Given the description of an element on the screen output the (x, y) to click on. 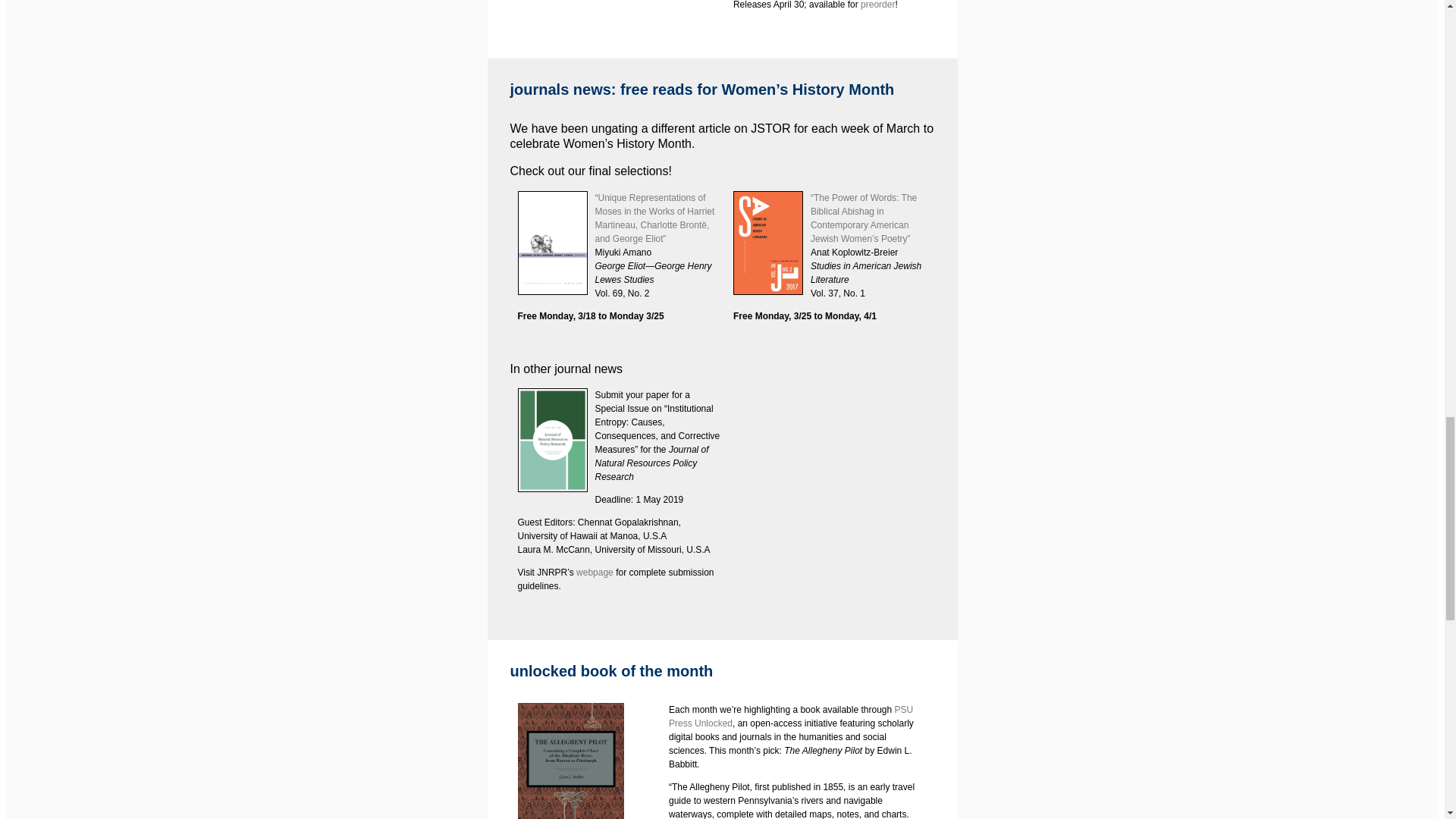
preorder (877, 4)
